Given the description of an element on the screen output the (x, y) to click on. 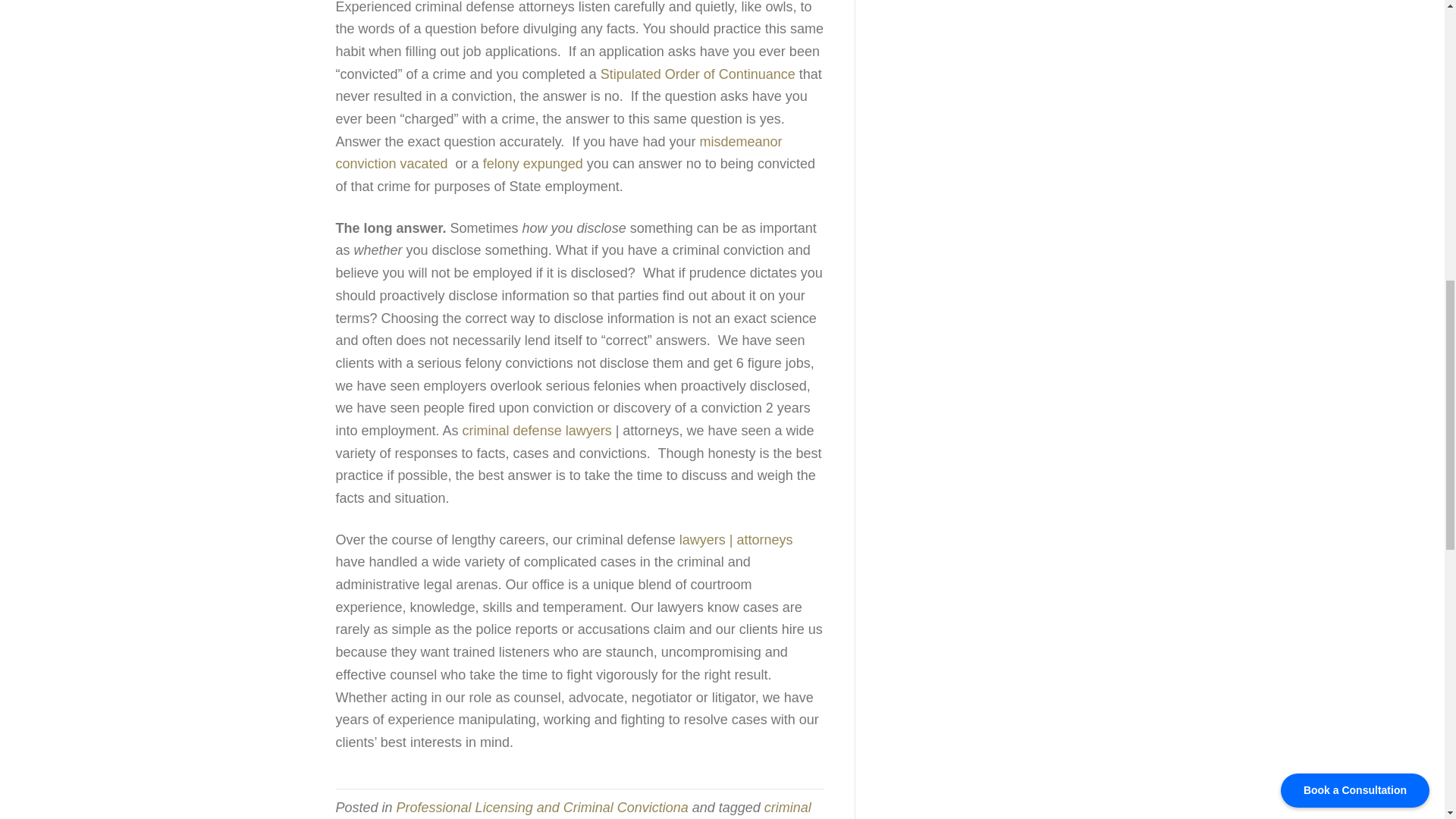
Felonies (533, 163)
Criminal Convictions. What is considered a Conviction? (696, 73)
